Given the description of an element on the screen output the (x, y) to click on. 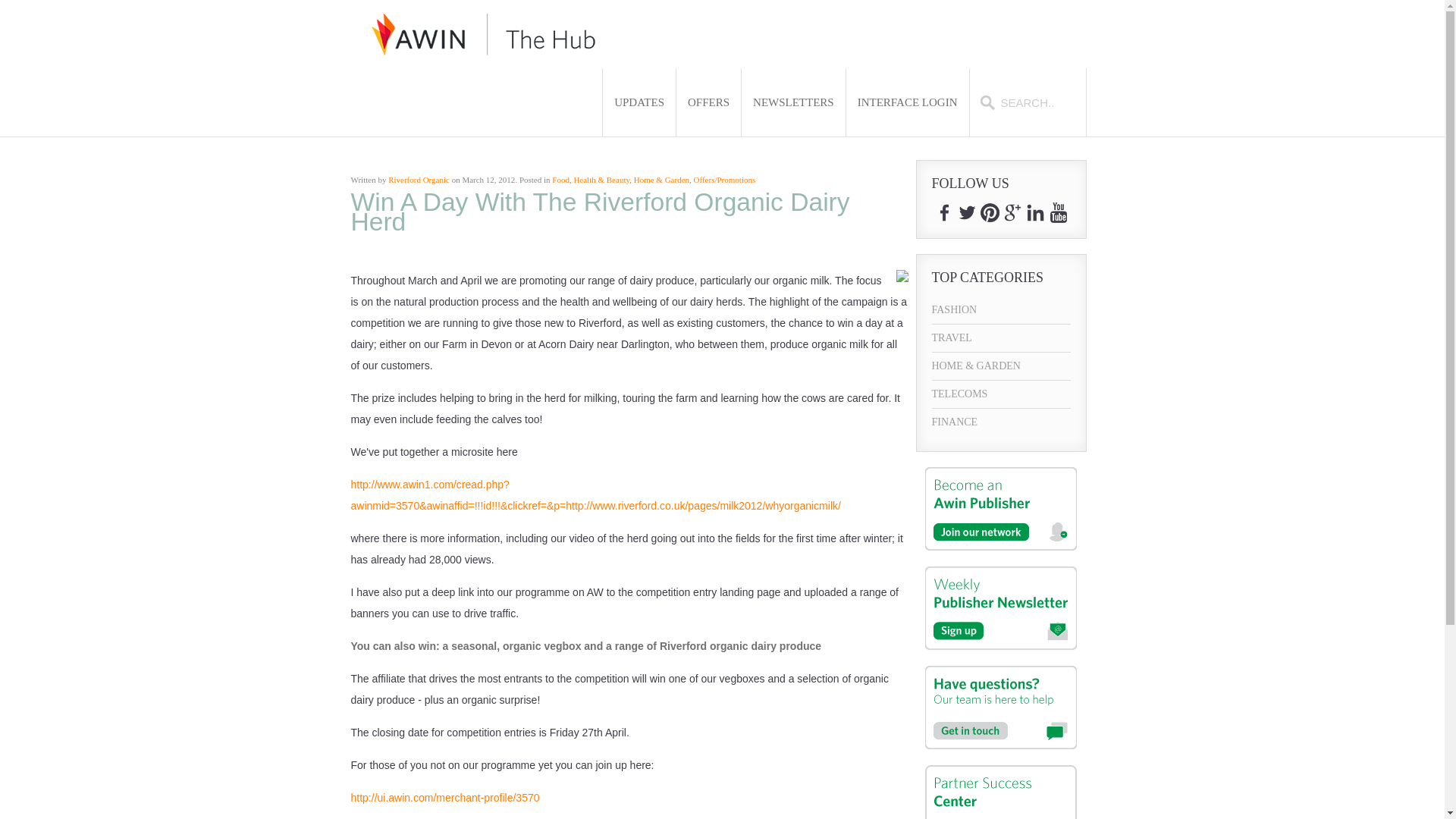
FINANCE (1000, 421)
FASHION (1000, 309)
TRAVEL (1000, 338)
INTERFACE LOGIN (907, 102)
OFFERS (708, 102)
Interface Login (907, 102)
UPDATES (639, 102)
Reset (3, 2)
Riverford Organic (418, 179)
NEWSLETTERS (793, 102)
Food (560, 179)
TELECOMS (1000, 393)
Riverford Organic (418, 179)
